Given the description of an element on the screen output the (x, y) to click on. 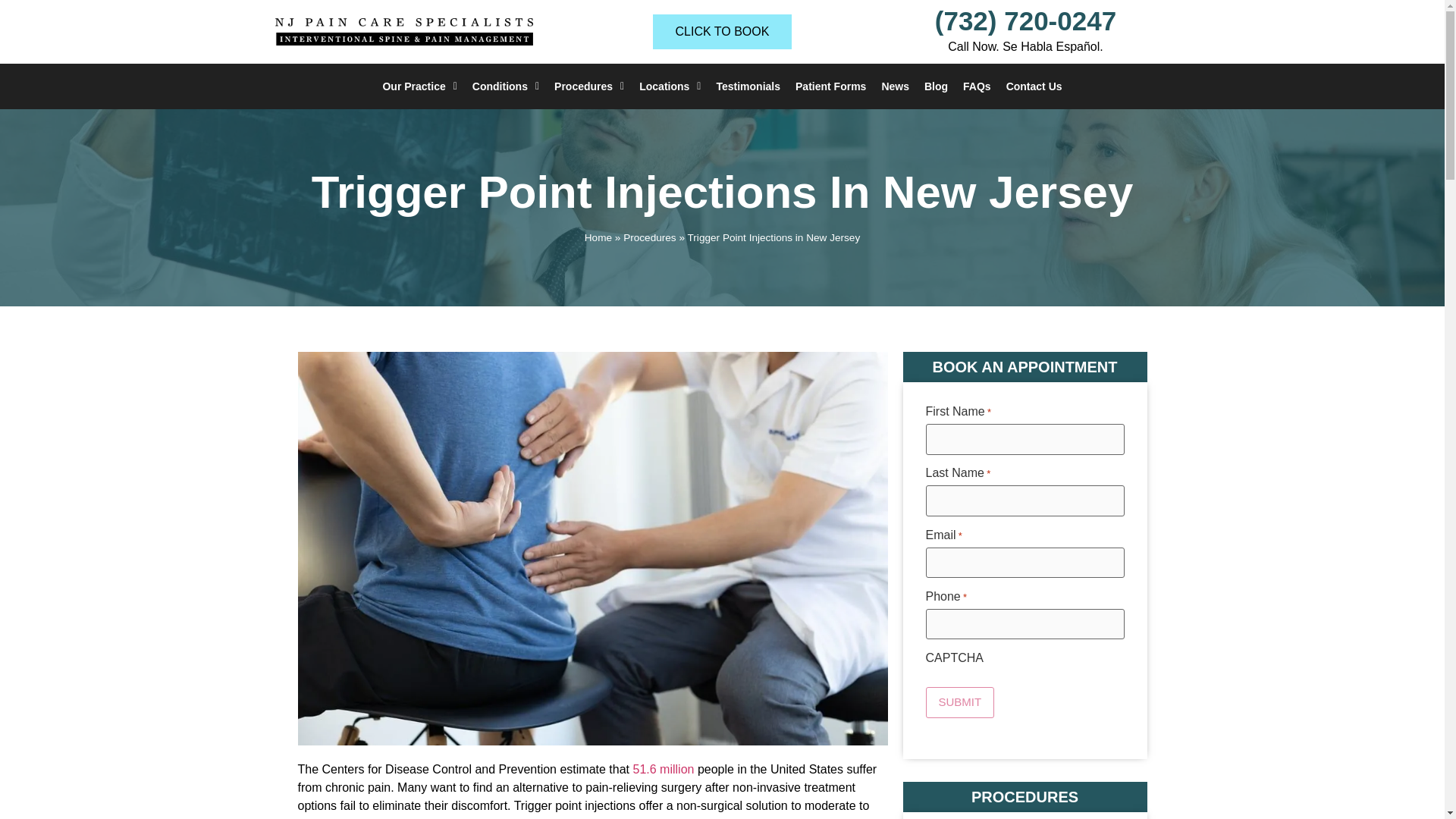
Our Practice (419, 86)
Patient Forms (830, 86)
FAQs (976, 86)
Contact Us (1034, 86)
Blog (936, 86)
Conditions (505, 86)
CLICK TO BOOK (722, 31)
Locations (669, 86)
News (895, 86)
Procedures (589, 86)
Submit (959, 702)
Testimonials (747, 86)
